Given the description of an element on the screen output the (x, y) to click on. 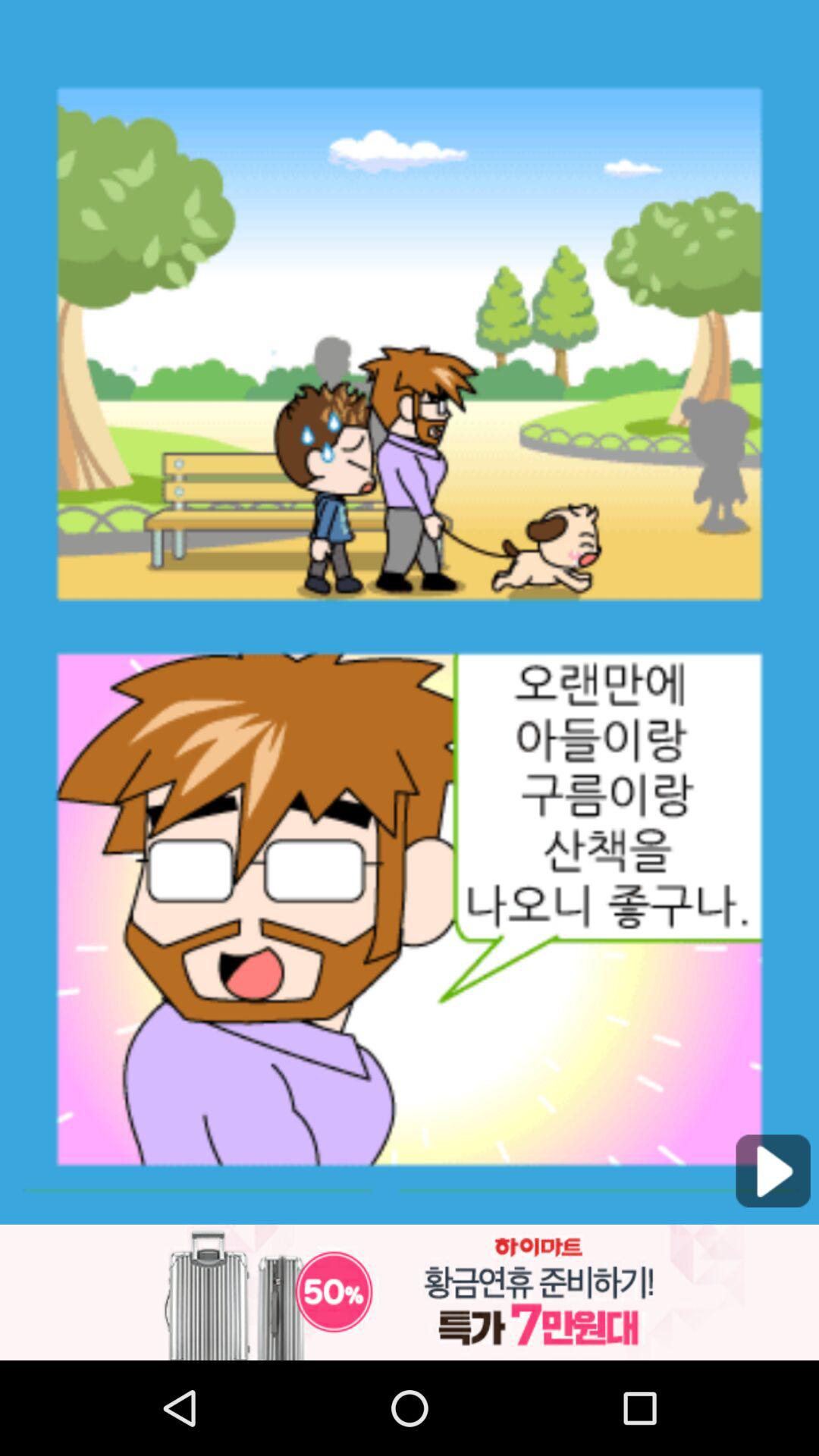
go to next button (772, 1170)
